Given the description of an element on the screen output the (x, y) to click on. 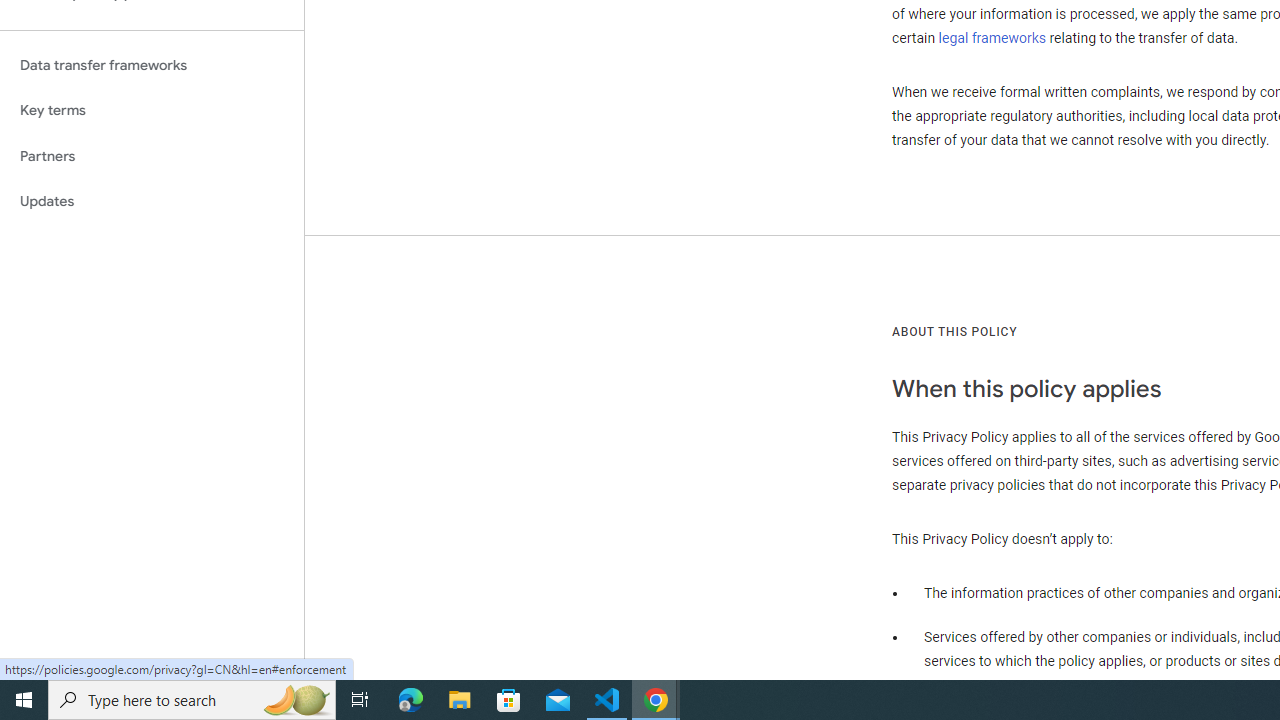
Data transfer frameworks (152, 65)
Partners (152, 156)
legal frameworks (991, 37)
Key terms (152, 110)
